Given the description of an element on the screen output the (x, y) to click on. 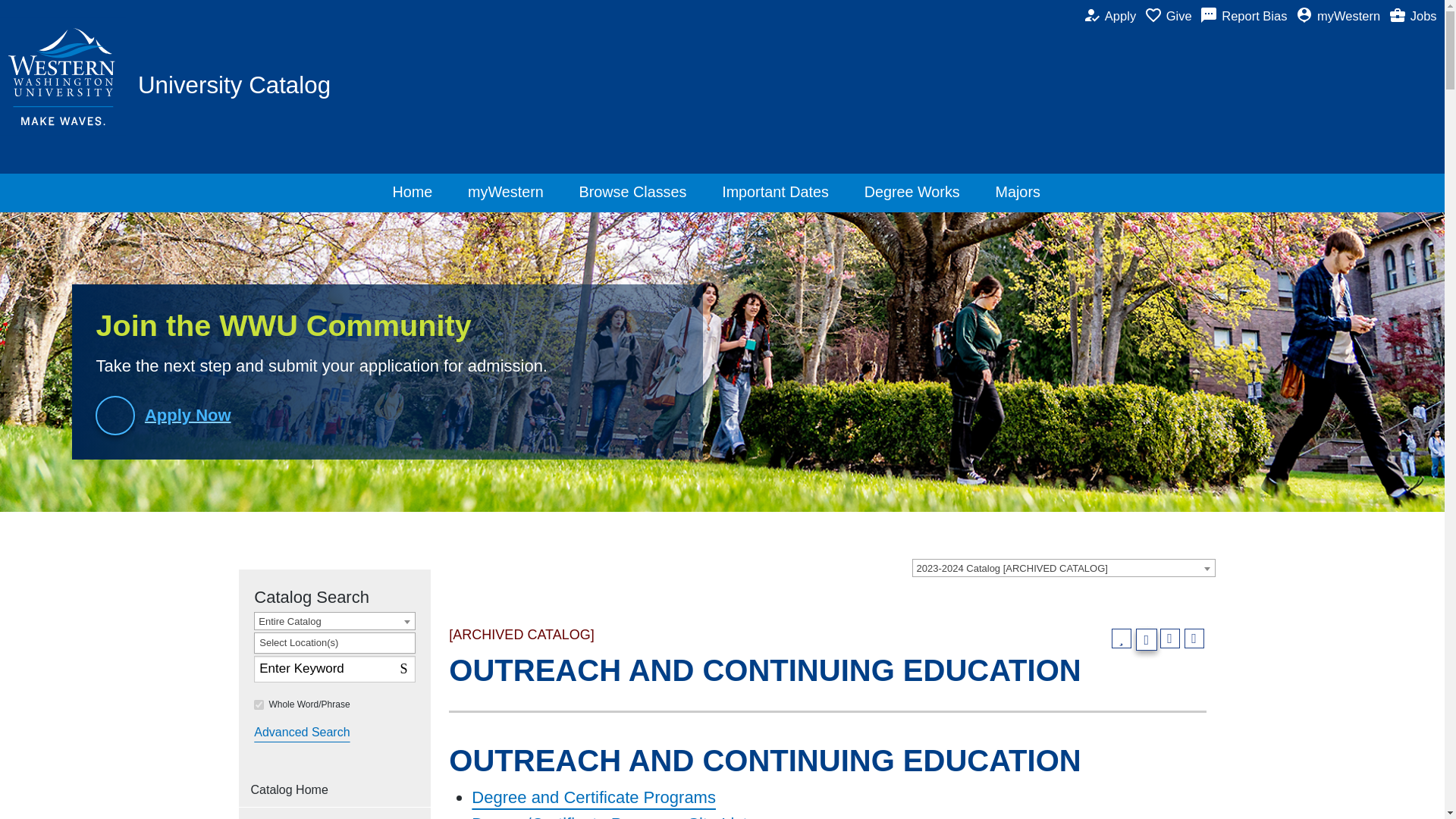
Apply Now (171, 414)
Apply (1113, 16)
Search Keyword Field, required (333, 669)
Search (405, 667)
Advanced Search (301, 732)
1 (258, 705)
Important Dates (781, 192)
Exact Match (258, 705)
Western Logo (63, 76)
Select a Catalog (923, 567)
